Given the description of an element on the screen output the (x, y) to click on. 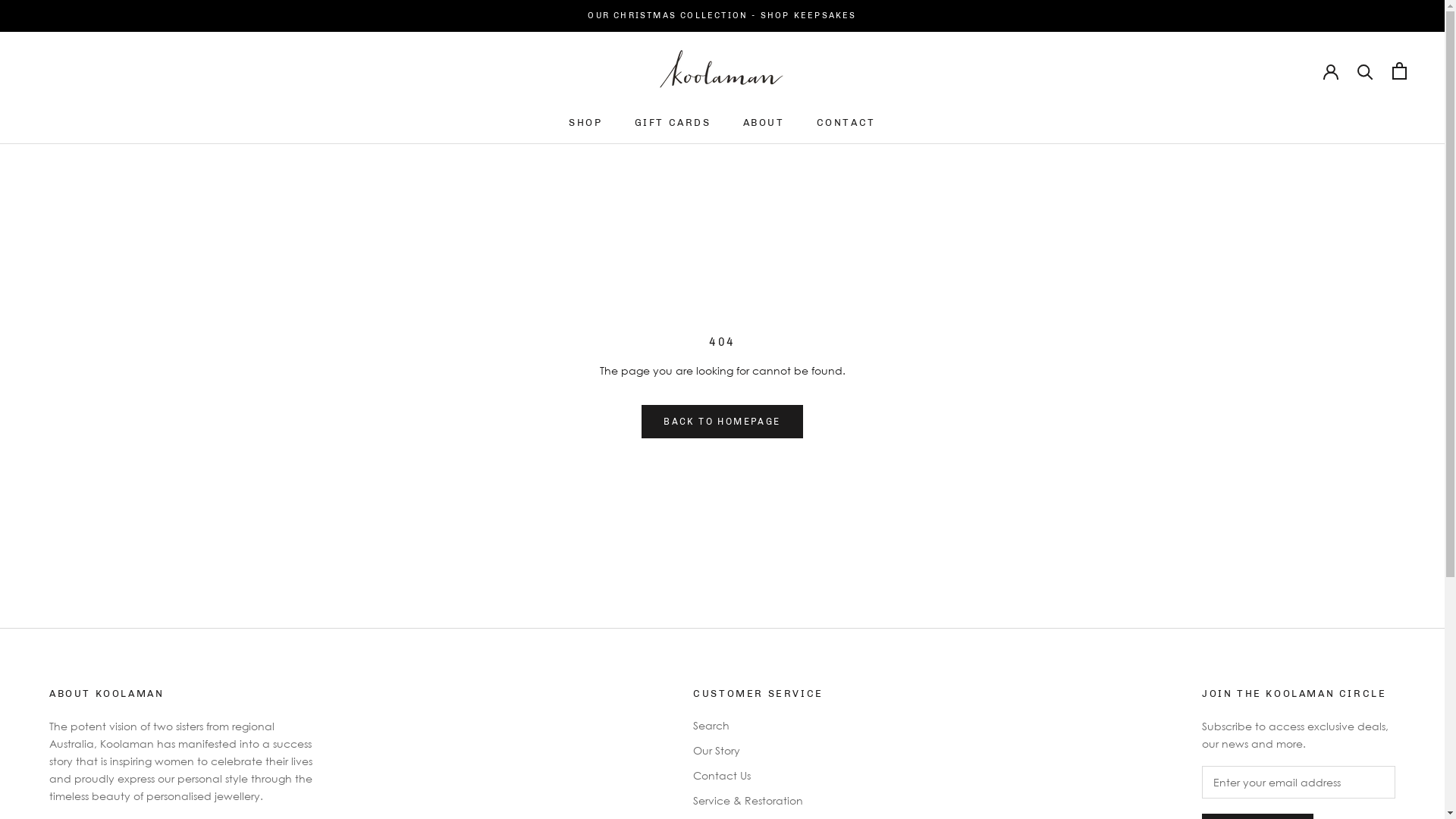
BACK TO HOMEPAGE Element type: text (721, 421)
Search Element type: text (758, 725)
Service & Restoration Element type: text (758, 800)
OUR CHRISTMAS COLLECTION - SHOP KEEPSAKES Element type: text (721, 15)
CONTACT
CONTACT Element type: text (845, 122)
SHOP Element type: text (585, 122)
ABOUT
ABOUT Element type: text (763, 122)
Contact Us Element type: text (758, 775)
Our Story Element type: text (758, 750)
GIFT CARDS
GIFT CARDS Element type: text (672, 122)
